Given the description of an element on the screen output the (x, y) to click on. 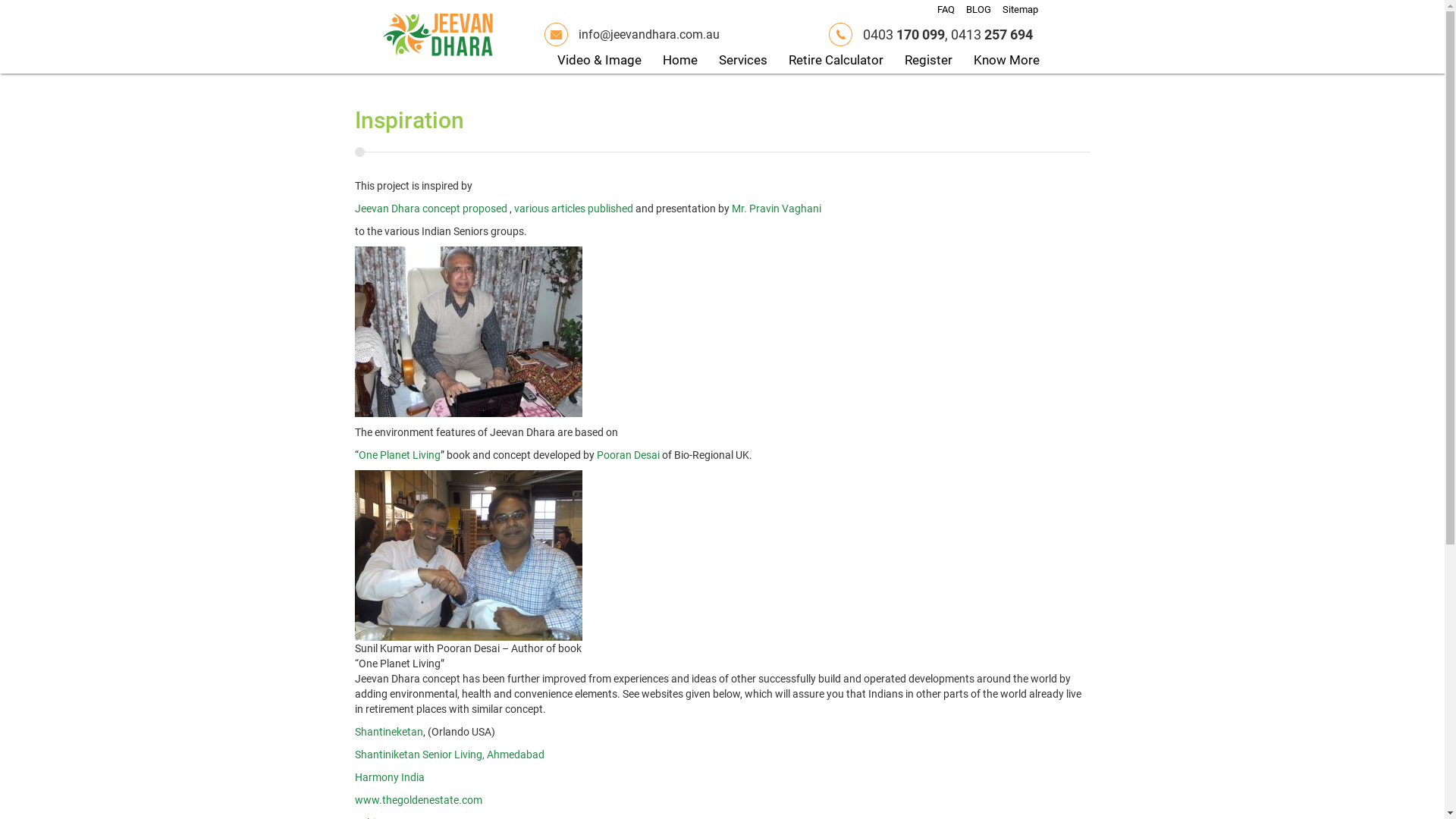
Shantiniketan Senior Living, Ahmedabad Element type: text (449, 754)
Services Element type: text (742, 60)
Video & Image Element type: text (598, 60)
Jeevan Dhara concept proposed Element type: text (430, 208)
Home Element type: text (679, 60)
Sitemap Element type: text (1019, 9)
various articles published Element type: text (571, 208)
www.thegoldenestate.com Element type: text (418, 799)
Pooran Desai Element type: text (627, 454)
Register Element type: text (927, 60)
Shantineketan Element type: text (388, 731)
FAQ Element type: text (945, 9)
Inspiration Element type: text (409, 119)
Know More Element type: text (1006, 60)
Harmony India Element type: text (389, 777)
Retire Calculator Element type: text (835, 60)
One Planet Living Element type: text (398, 454)
BLOG Element type: text (978, 9)
Mr. Pravin Vaghani Element type: text (775, 208)
